Given the description of an element on the screen output the (x, y) to click on. 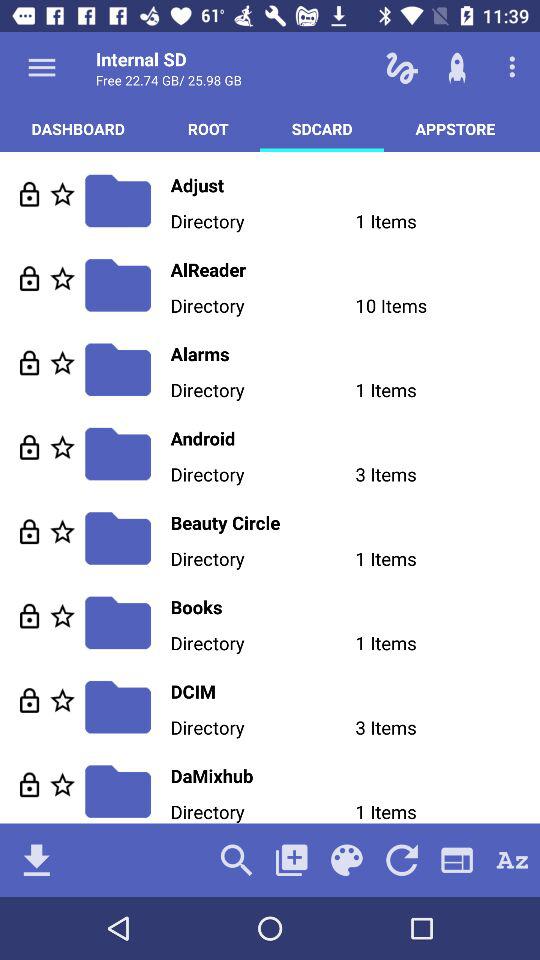
favorite the directory (62, 615)
